Given the description of an element on the screen output the (x, y) to click on. 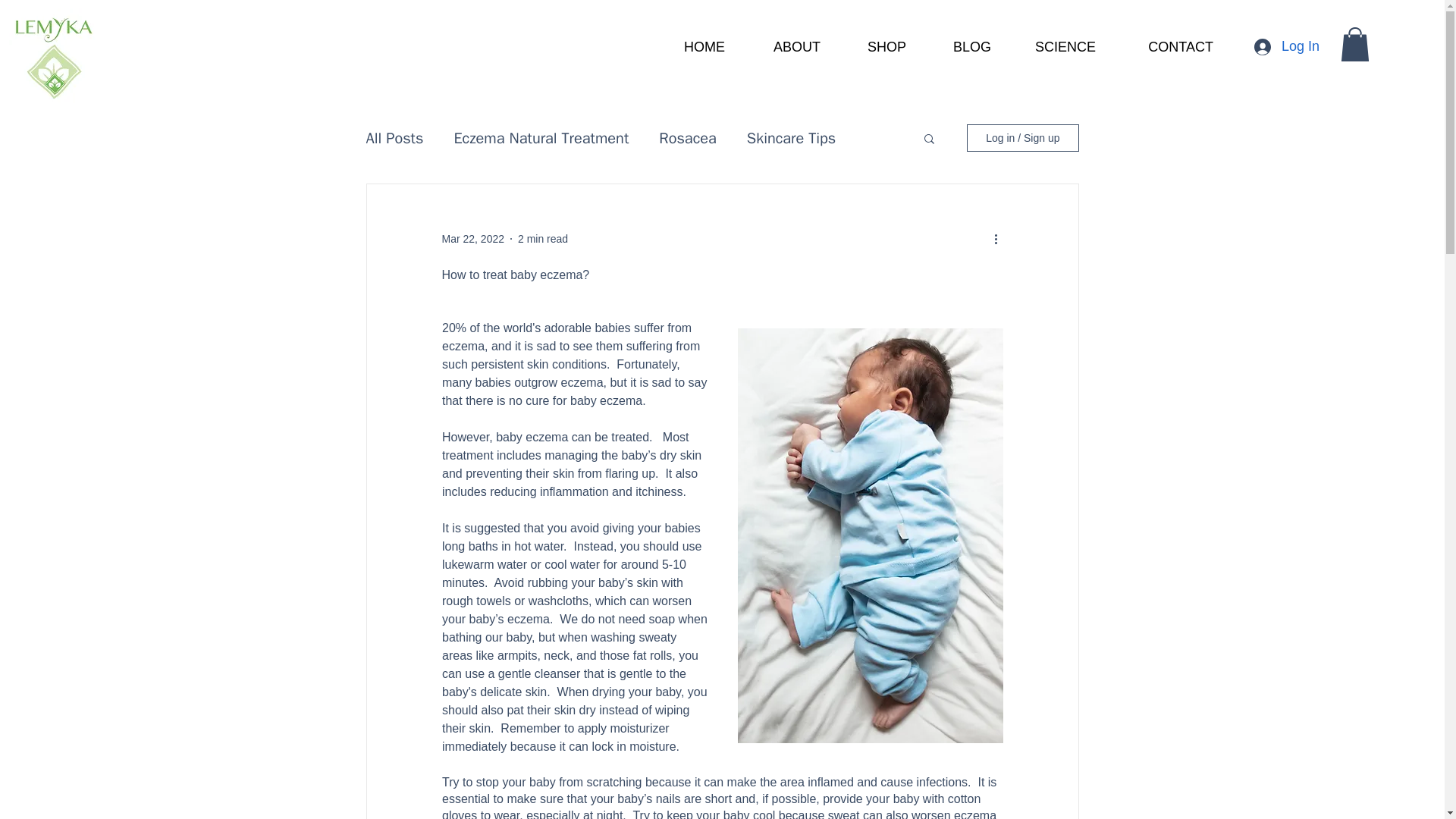
Rosacea (687, 137)
2 min read (542, 238)
HOME (691, 46)
BLOG (960, 46)
All Posts (394, 137)
ABOUT (783, 46)
SCIENCE (1054, 46)
Eczema Natural Treatment (540, 137)
CONTACT (1165, 46)
Mar 22, 2022 (472, 238)
